Given the description of an element on the screen output the (x, y) to click on. 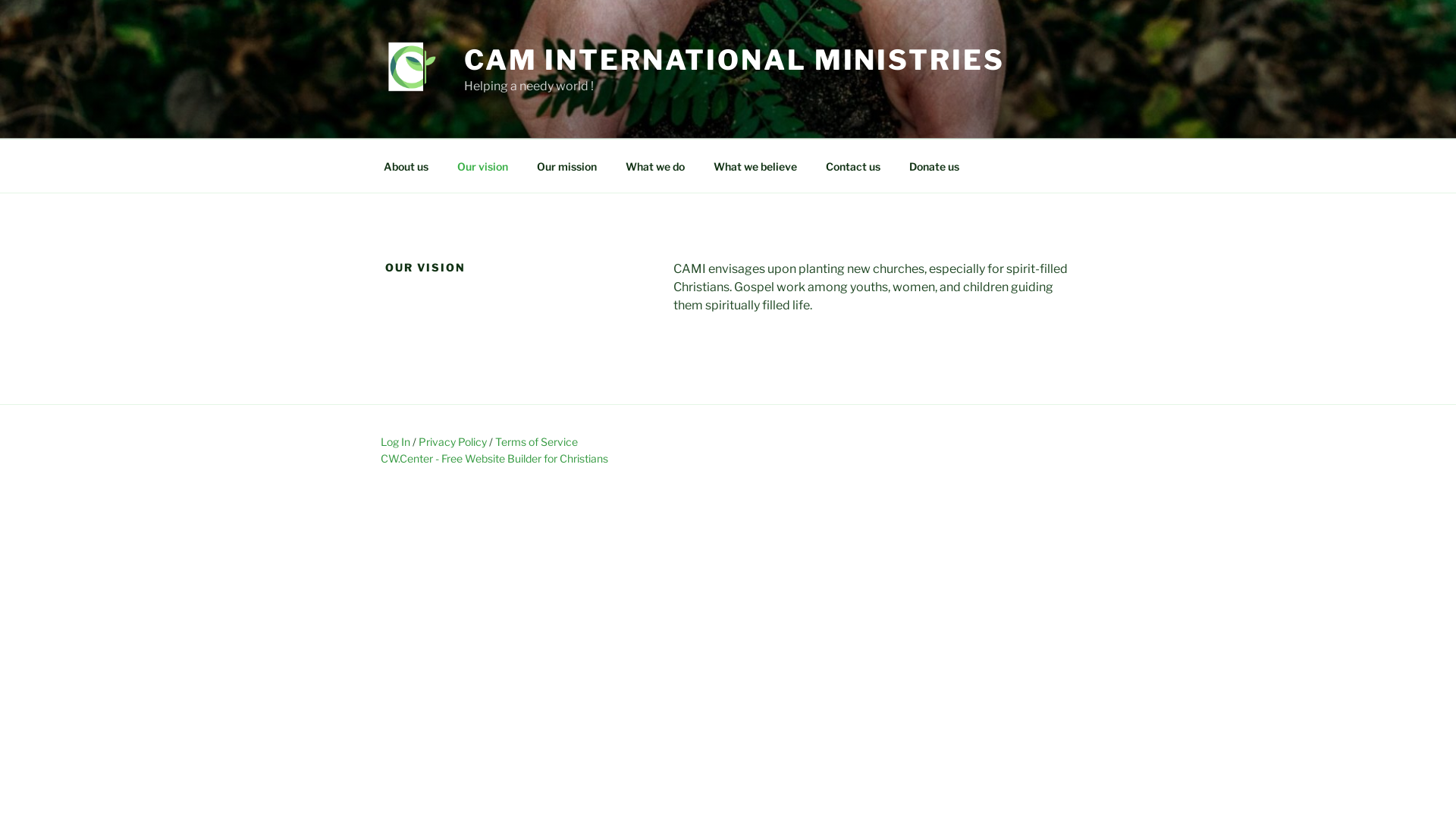
CW.Center - Free Website Builder for Christians Element type: text (494, 457)
Our vision Element type: text (481, 165)
Our mission Element type: text (566, 165)
Terms of Service Element type: text (536, 441)
About us Element type: text (405, 165)
Privacy Policy Element type: text (452, 441)
What we do Element type: text (654, 165)
CAM INTERNATIONAL MINISTRIES Element type: text (734, 59)
What we believe Element type: text (754, 165)
Contact us Element type: text (852, 165)
Donate us Element type: text (933, 165)
Log In Element type: text (395, 441)
